Given the description of an element on the screen output the (x, y) to click on. 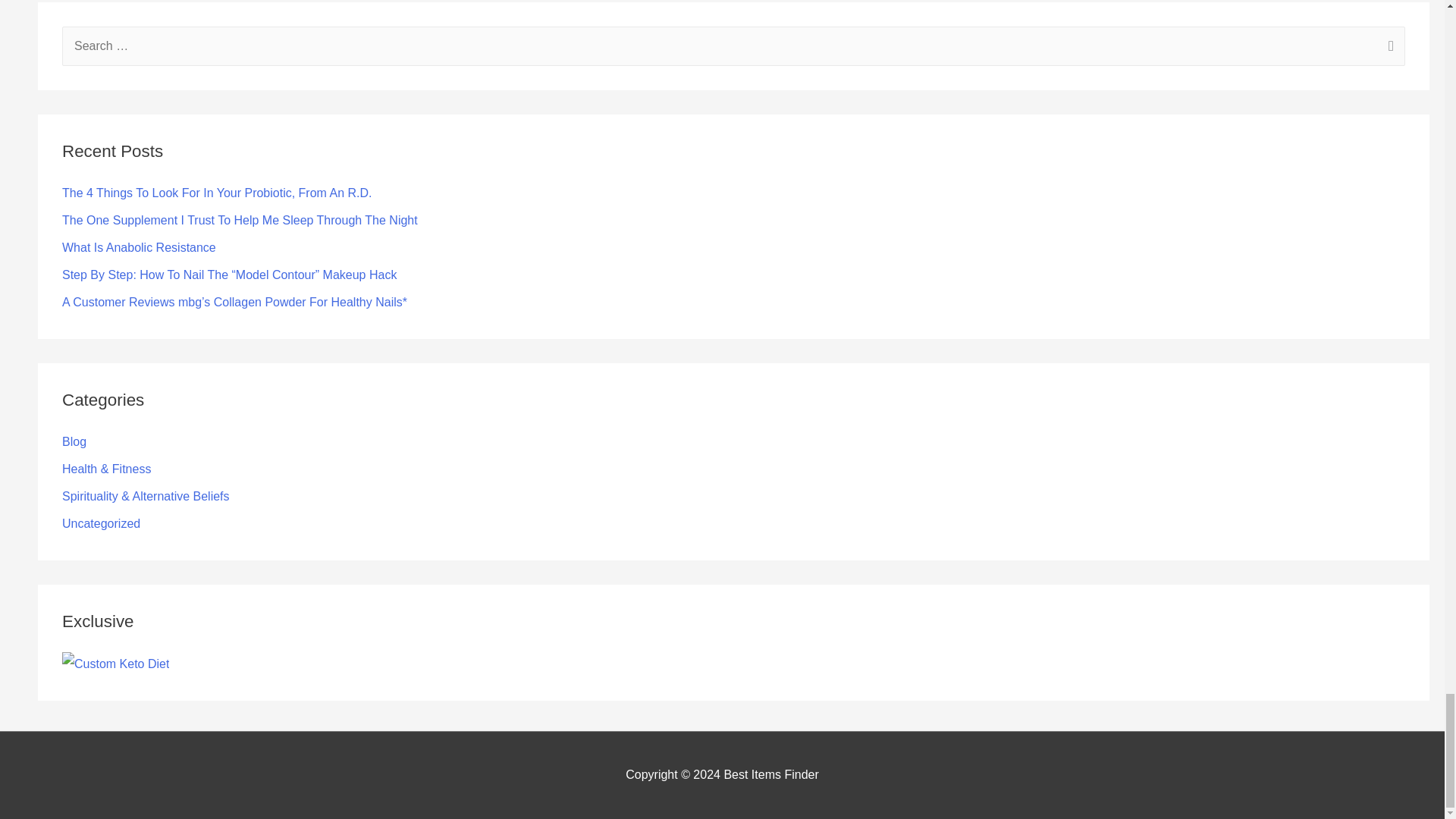
What Is Anabolic Resistance (138, 246)
Blog (73, 440)
Uncategorized (100, 522)
The 4 Things To Look For In Your Probiotic, From An R.D. (217, 192)
